Given the description of an element on the screen output the (x, y) to click on. 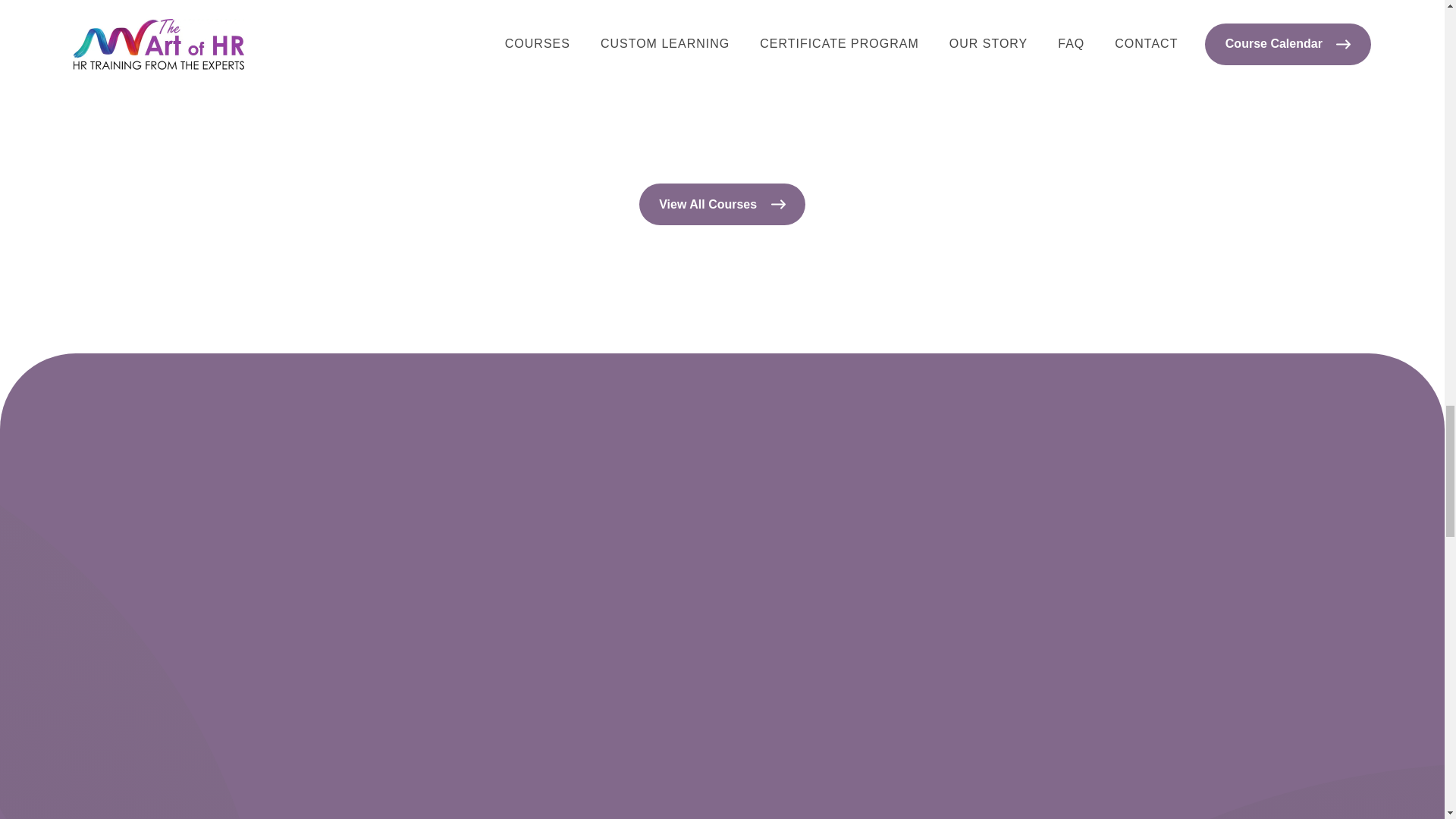
View All Courses (722, 204)
